Given the description of an element on the screen output the (x, y) to click on. 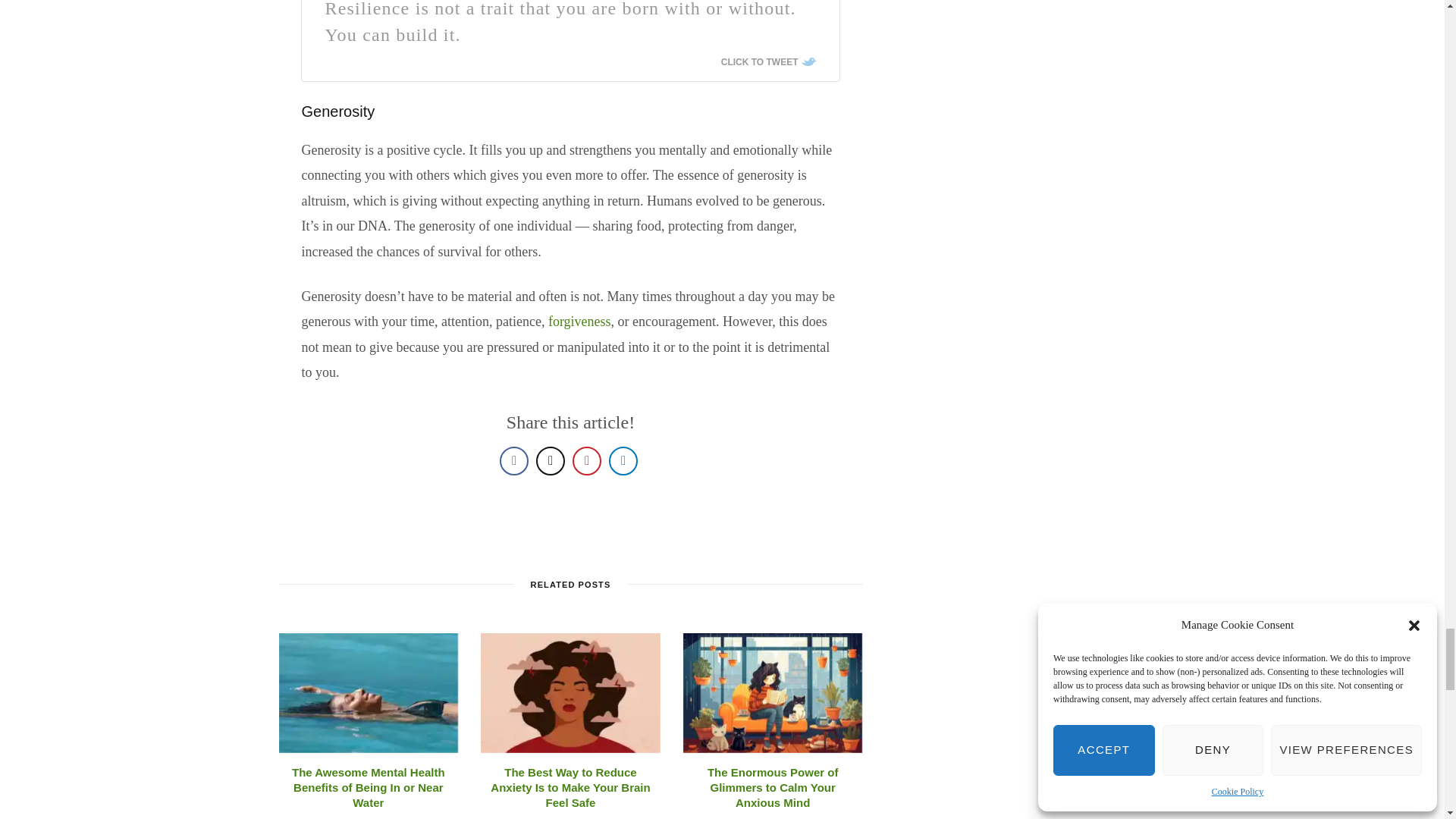
The Awesome Mental Health Benefits of Being In or Near Water (368, 692)
The Enormous Power of Glimmers to Calm Your Anxious Mind (772, 692)
